Given the description of an element on the screen output the (x, y) to click on. 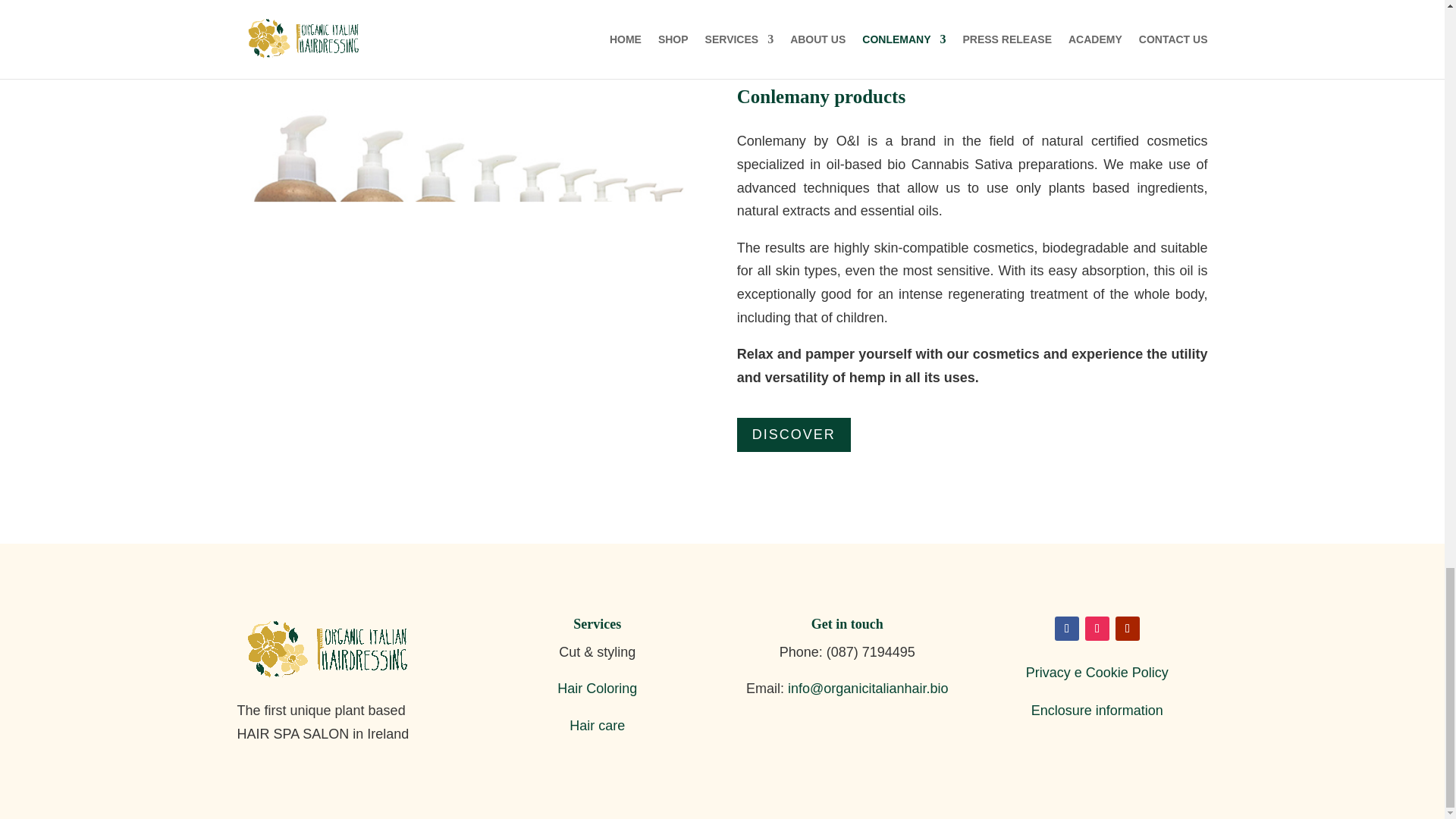
organic-italian-hairdressing-logo-small-1 (330, 650)
Enclosure information (1096, 710)
Follow on Facebook (1066, 628)
Hair care (596, 725)
Hair care (596, 725)
Follow on Instagram (1096, 628)
Privacy e Cookie Policy (1097, 672)
DISCOVER (793, 434)
Follow on Youtube (1127, 628)
